Given the description of an element on the screen output the (x, y) to click on. 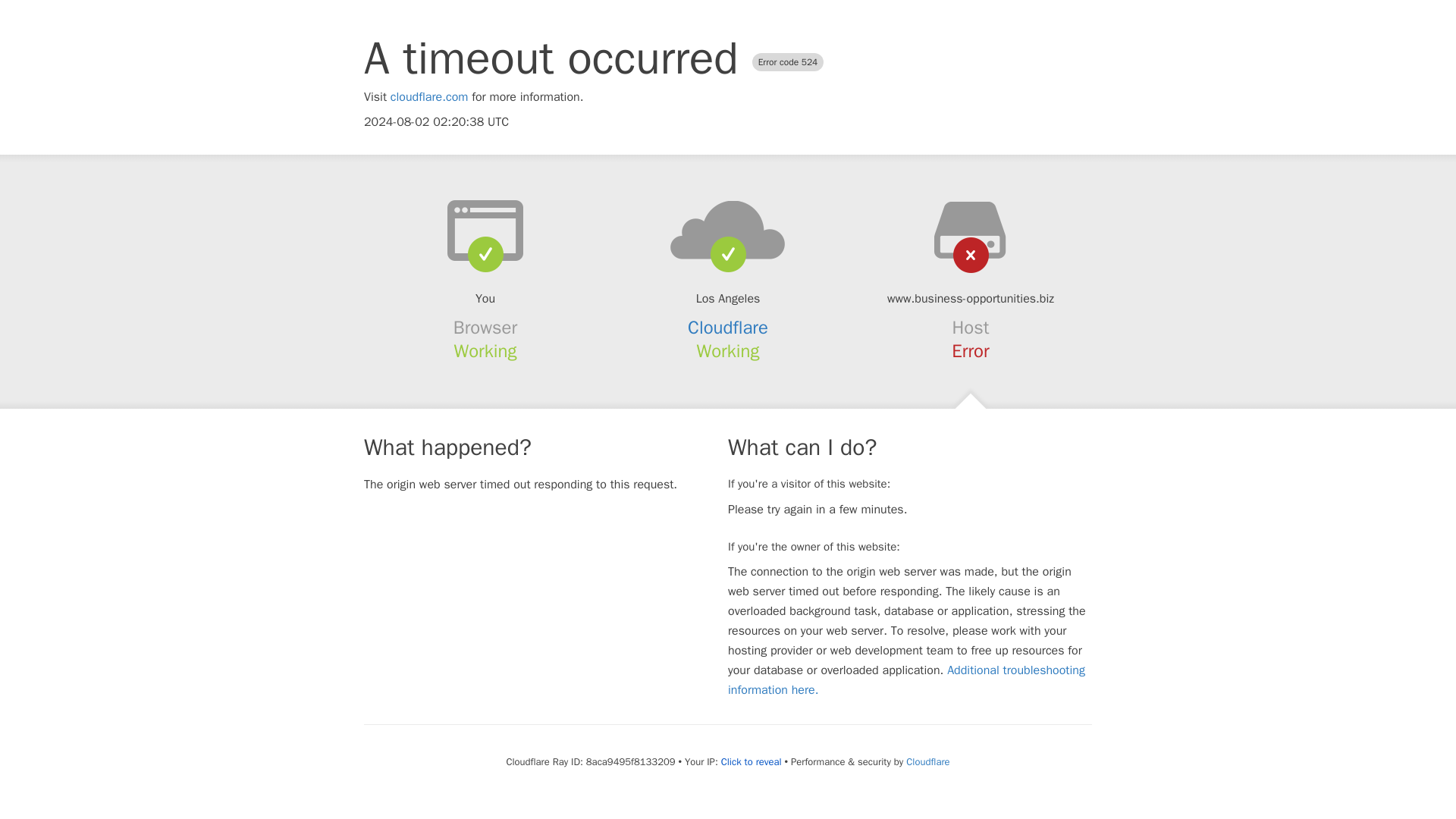
cloudflare.com (429, 96)
Cloudflare (727, 327)
Cloudflare (927, 761)
Additional troubleshooting information here. (906, 679)
Click to reveal (750, 762)
